Given the description of an element on the screen output the (x, y) to click on. 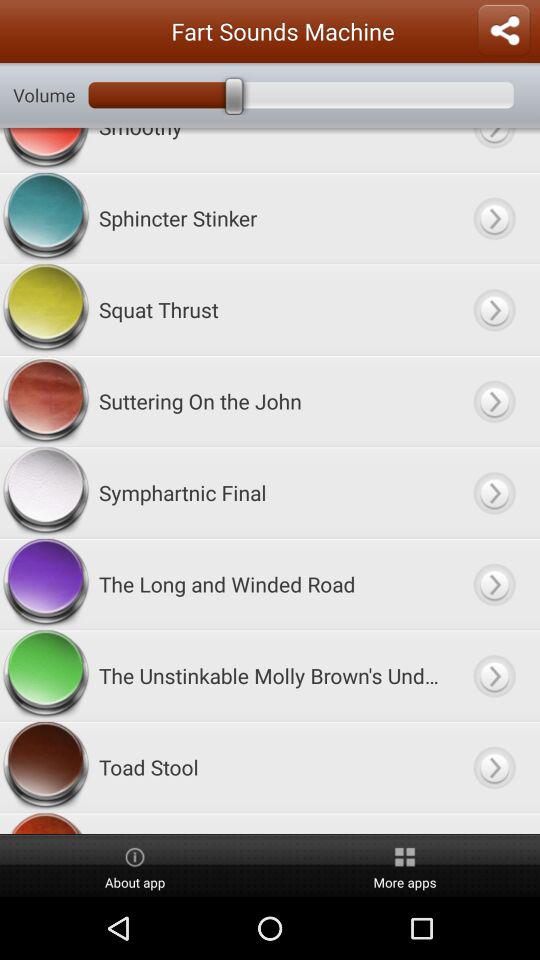
flip until the tonya farting app (269, 823)
